Given the description of an element on the screen output the (x, y) to click on. 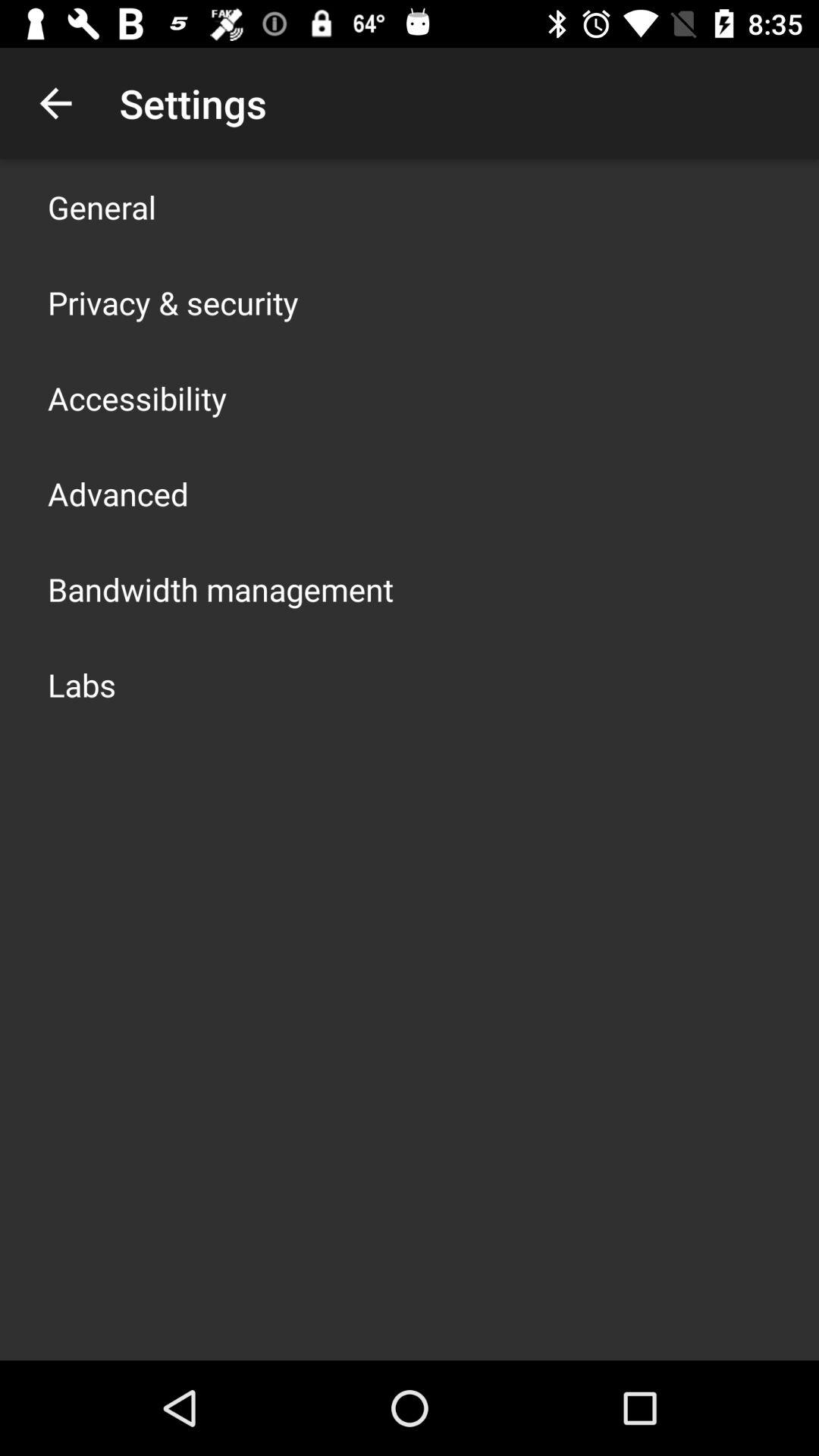
tap the accessibility item (136, 397)
